Given the description of an element on the screen output the (x, y) to click on. 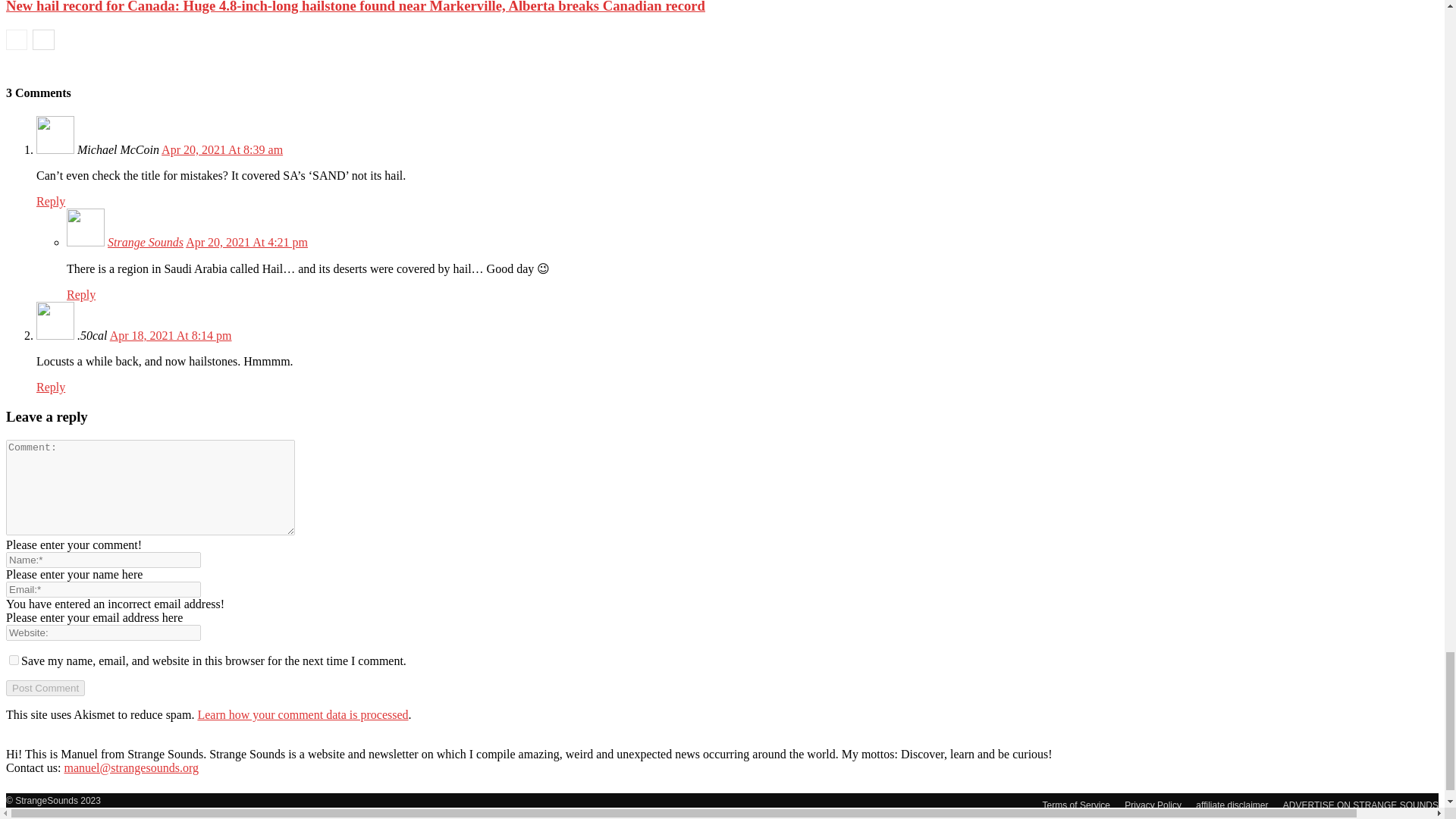
Post Comment (44, 688)
yes (13, 660)
